Given the description of an element on the screen output the (x, y) to click on. 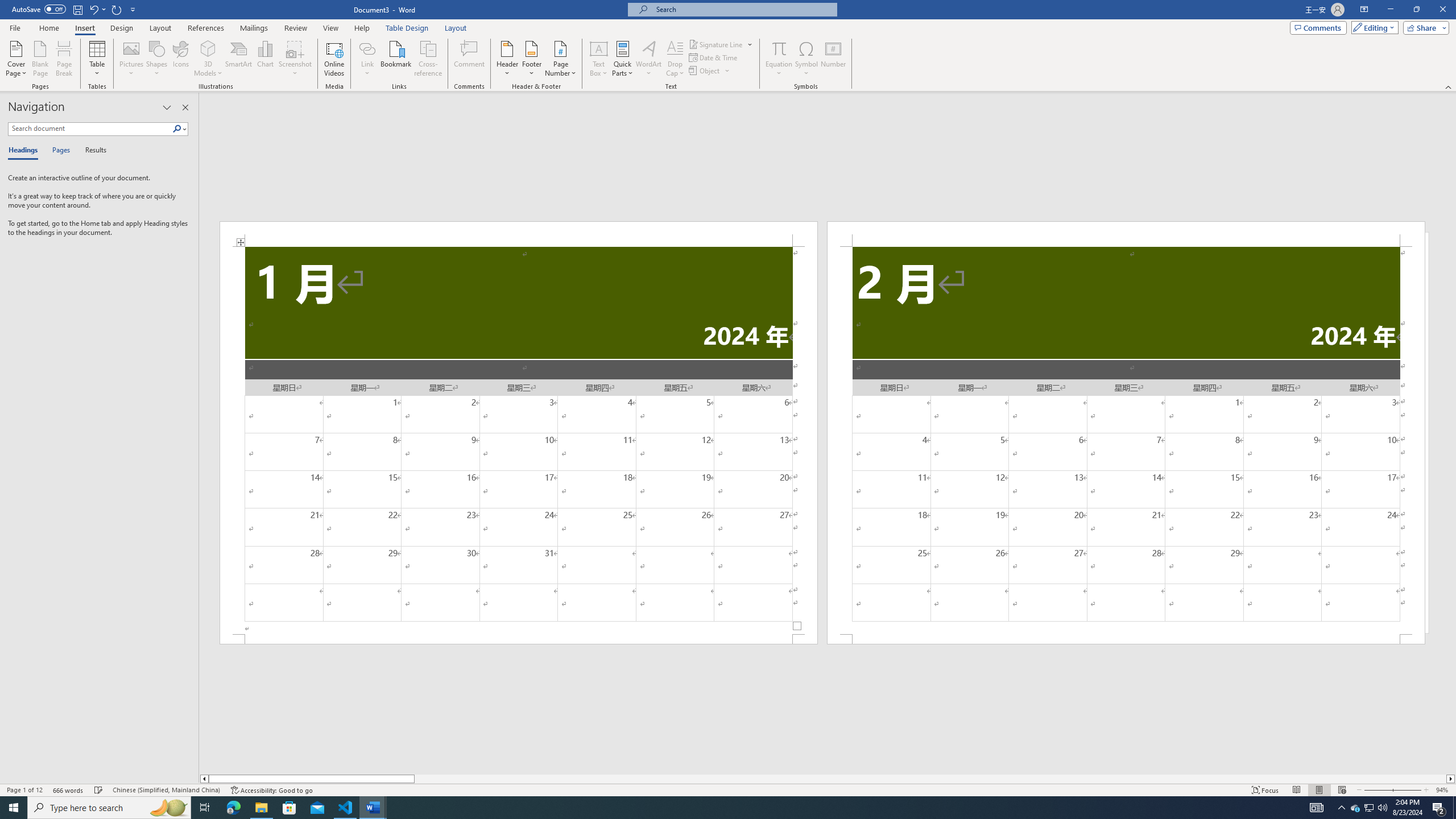
Save (77, 9)
Page right (929, 778)
Equation (778, 58)
Page Number (560, 58)
Focus  (1265, 790)
3D Models (208, 58)
Page Break (63, 58)
Home (48, 28)
Repeat Doc Close (117, 9)
Word Count 666 words (68, 790)
Mode (1372, 27)
Page 1 content (518, 439)
Signature Line (721, 44)
